Given the description of an element on the screen output the (x, y) to click on. 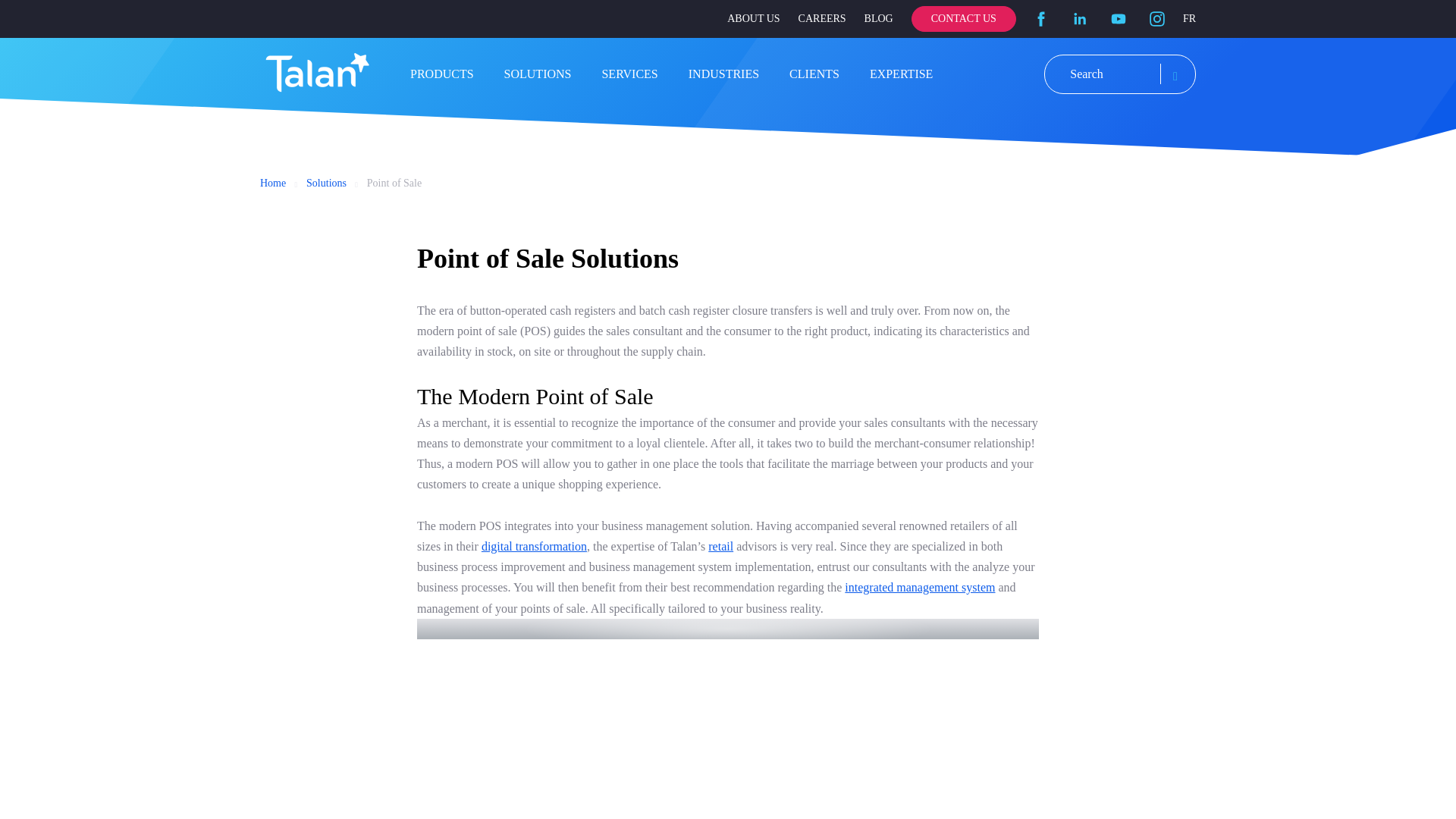
CONTACT US (963, 18)
CAREERS (821, 18)
SOLUTIONS (537, 73)
ABOUT US (752, 18)
INDUSTRIES (723, 73)
